Given the description of an element on the screen output the (x, y) to click on. 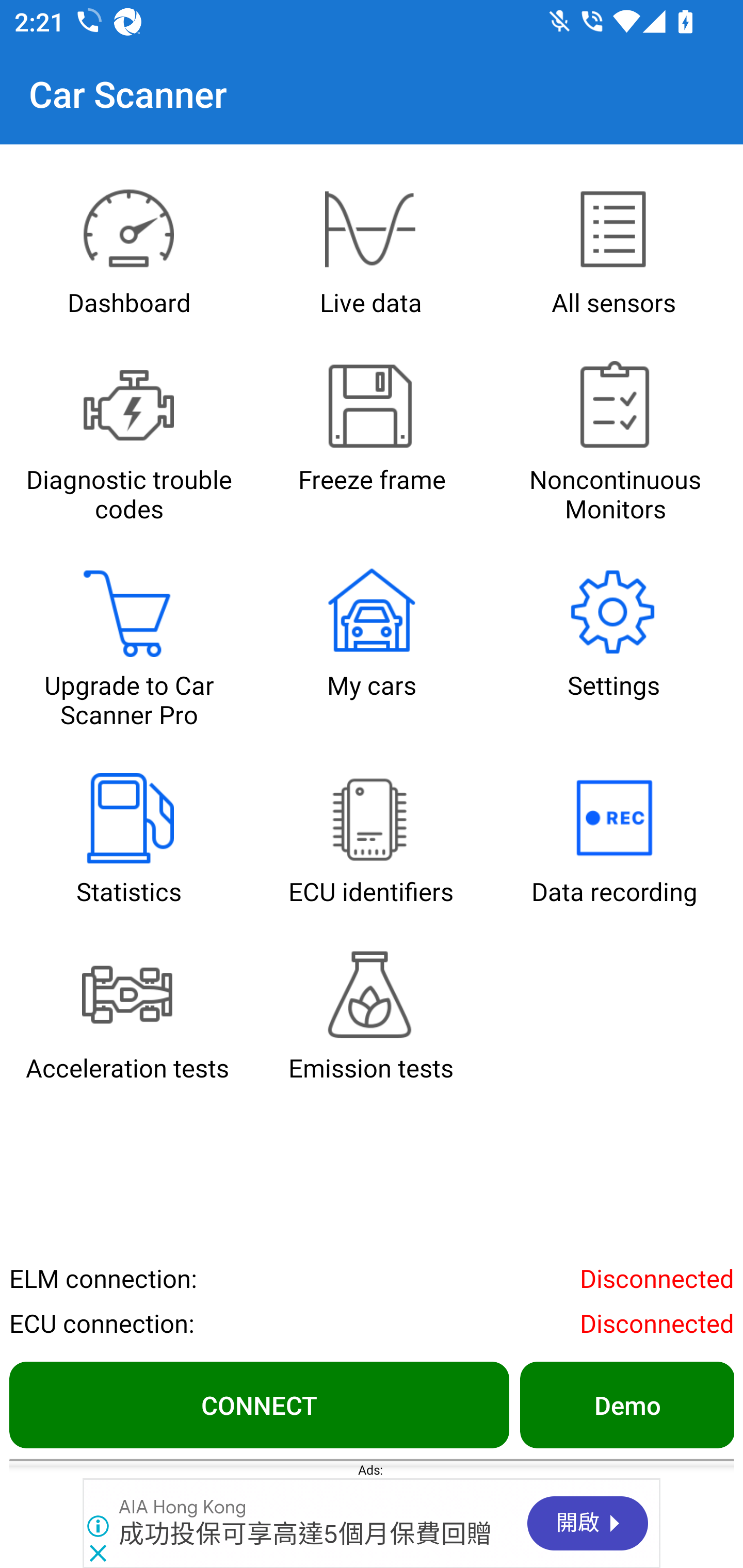
CONNECT (258, 1404)
Demo (627, 1404)
AIA Hong Kong (182, 1507)
開啟 (587, 1522)
成功投保可享高達5個月保費回贈 (306, 1533)
